Given the description of an element on the screen output the (x, y) to click on. 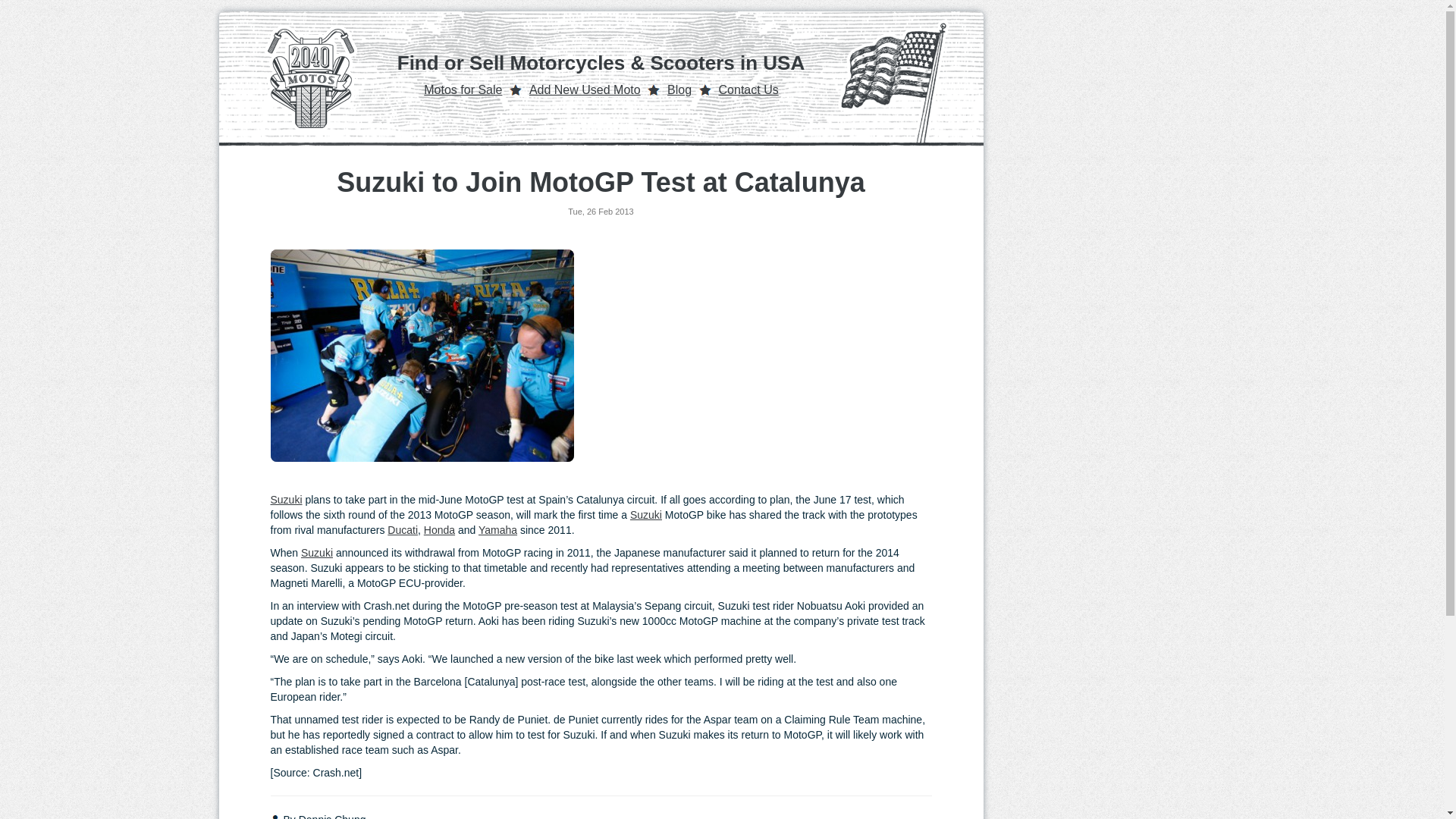
Suzuki (317, 552)
Yamaha (497, 530)
Add New Used Moto (584, 89)
Advertisement (751, 355)
Suzuki (285, 499)
Blog (678, 89)
Suzuki (646, 514)
Motos for Sale (462, 89)
Ducati (402, 530)
Honda (438, 530)
